Given the description of an element on the screen output the (x, y) to click on. 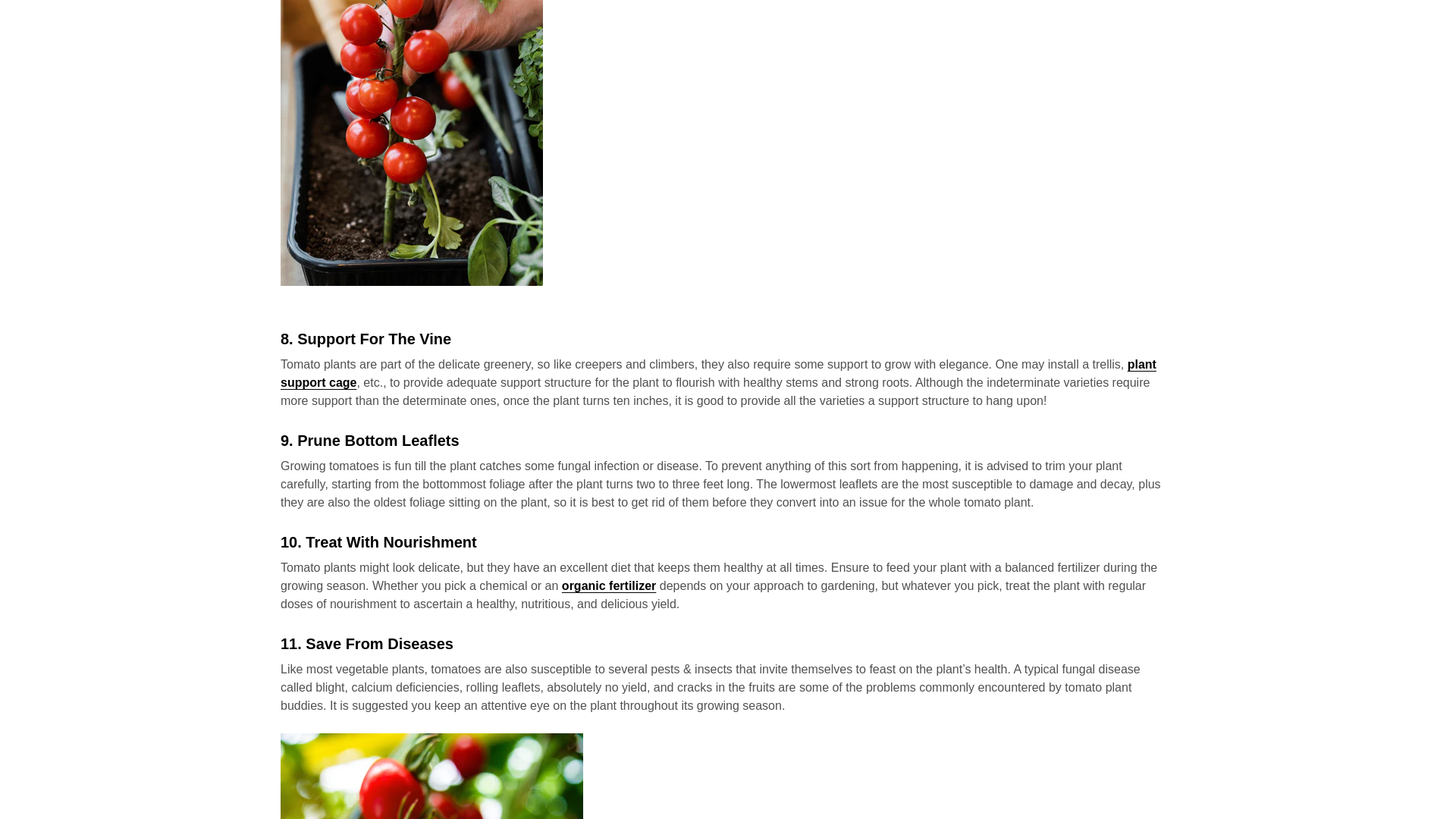
Organic Fertilizers (609, 585)
Plant Support Cage (718, 373)
plant support cage (718, 373)
organic fertilizer (609, 585)
